Given the description of an element on the screen output the (x, y) to click on. 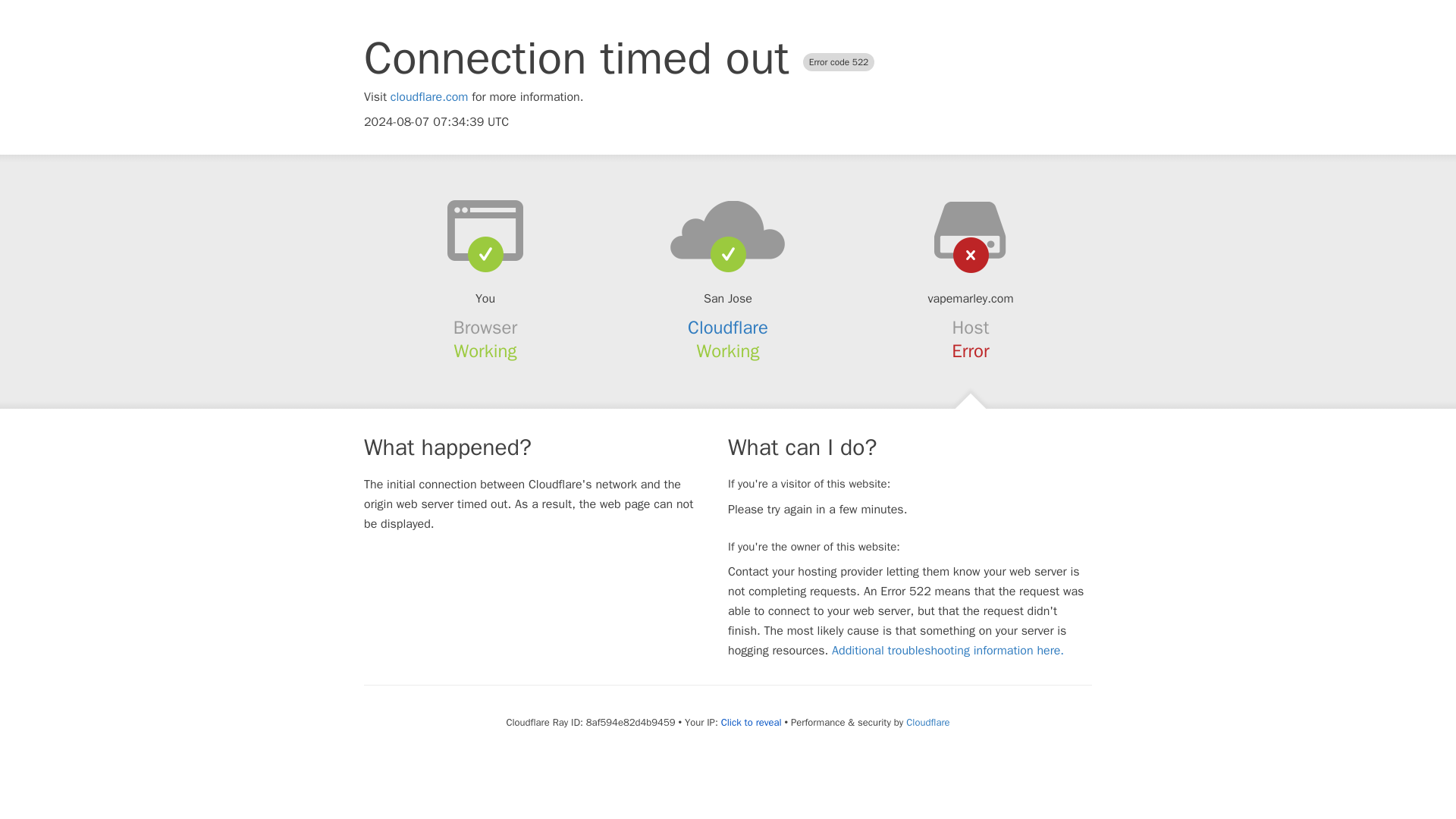
Additional troubleshooting information here. (947, 650)
cloudflare.com (429, 96)
Click to reveal (750, 722)
Cloudflare (727, 327)
Cloudflare (927, 721)
